Given the description of an element on the screen output the (x, y) to click on. 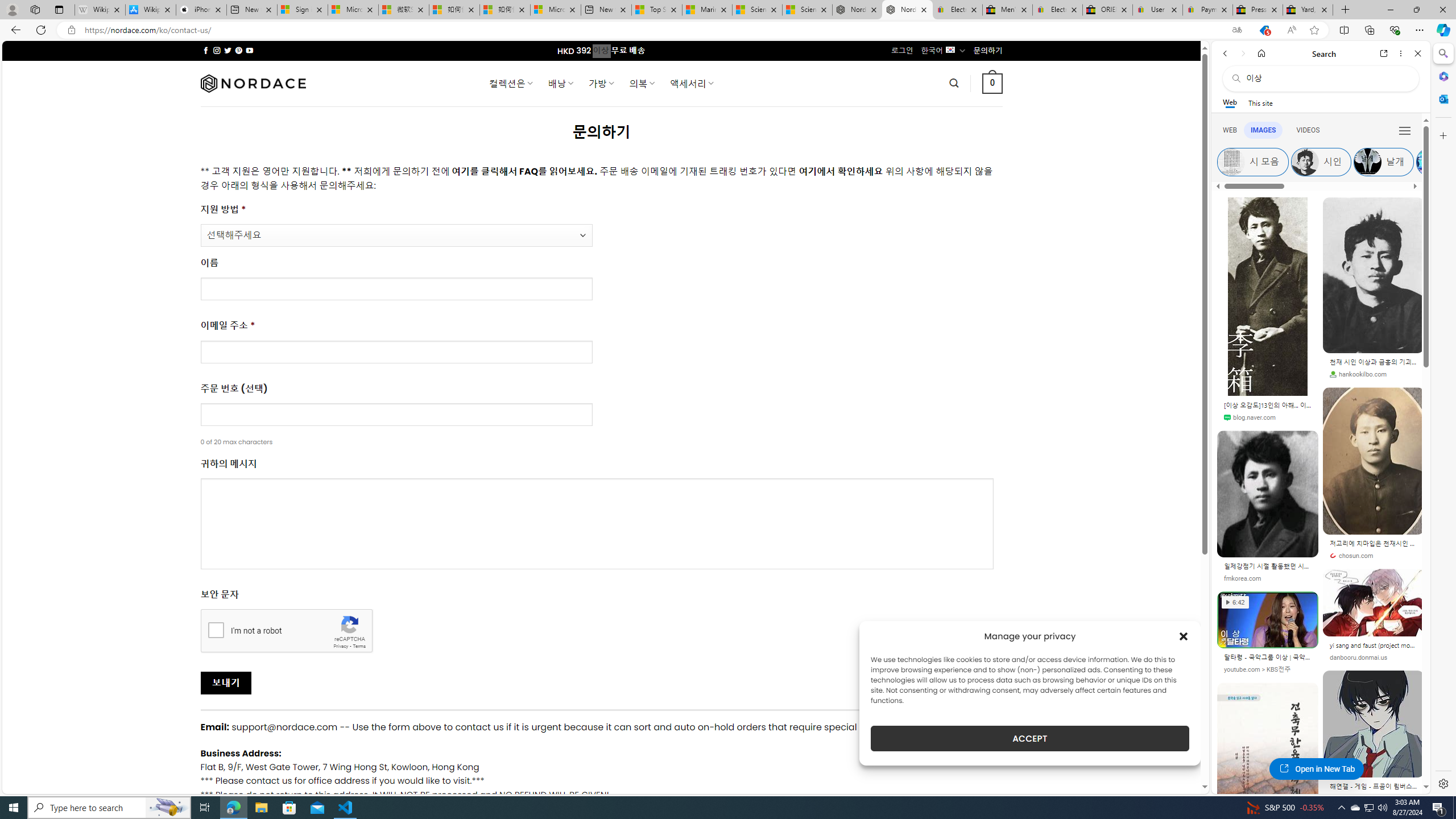
This site has coupons! Shopping in Microsoft Edge, 5 (1263, 29)
